Given the description of an element on the screen output the (x, y) to click on. 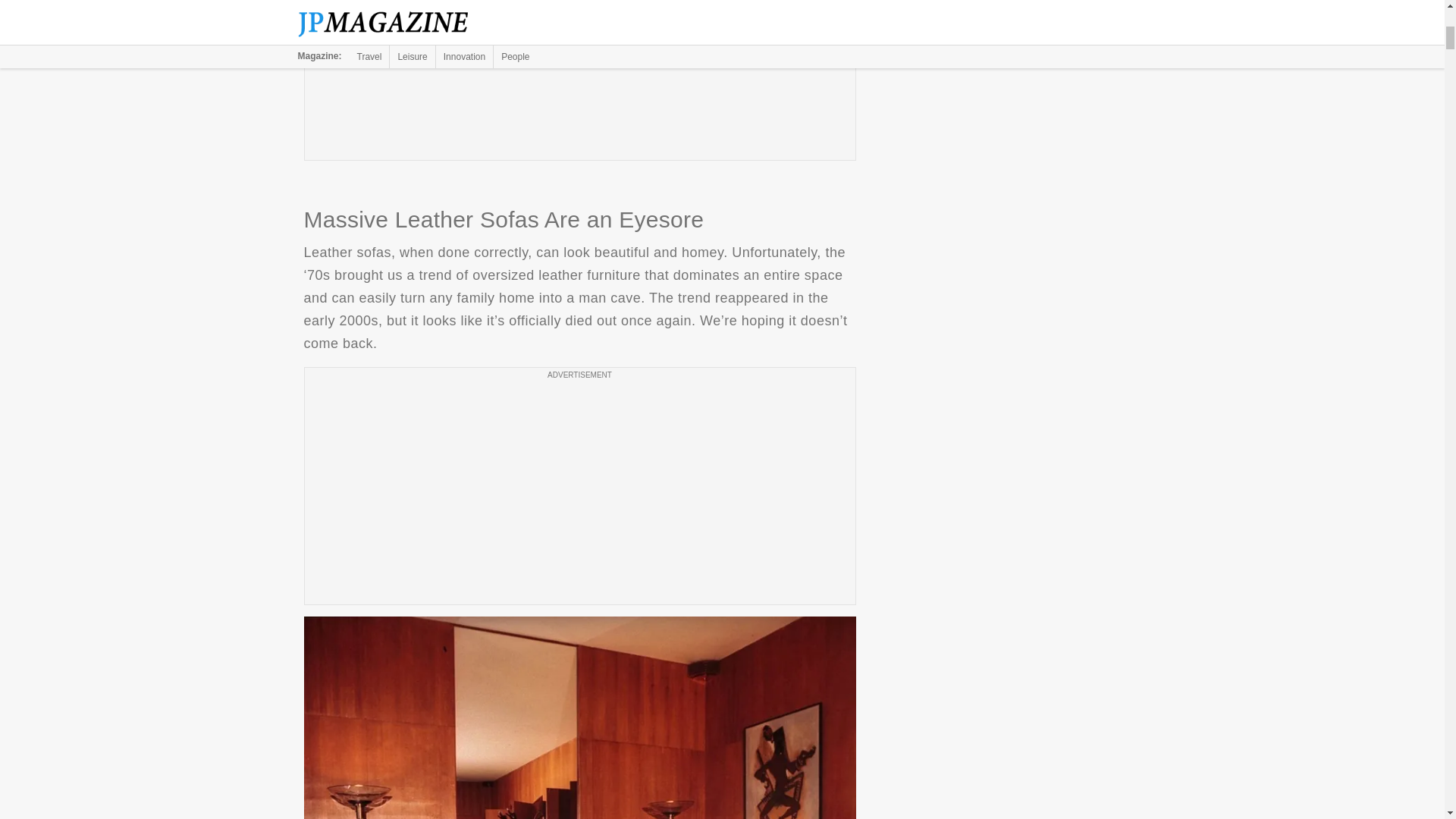
Massive Leather Sofas Are an Eyesore (579, 717)
